Given the description of an element on the screen output the (x, y) to click on. 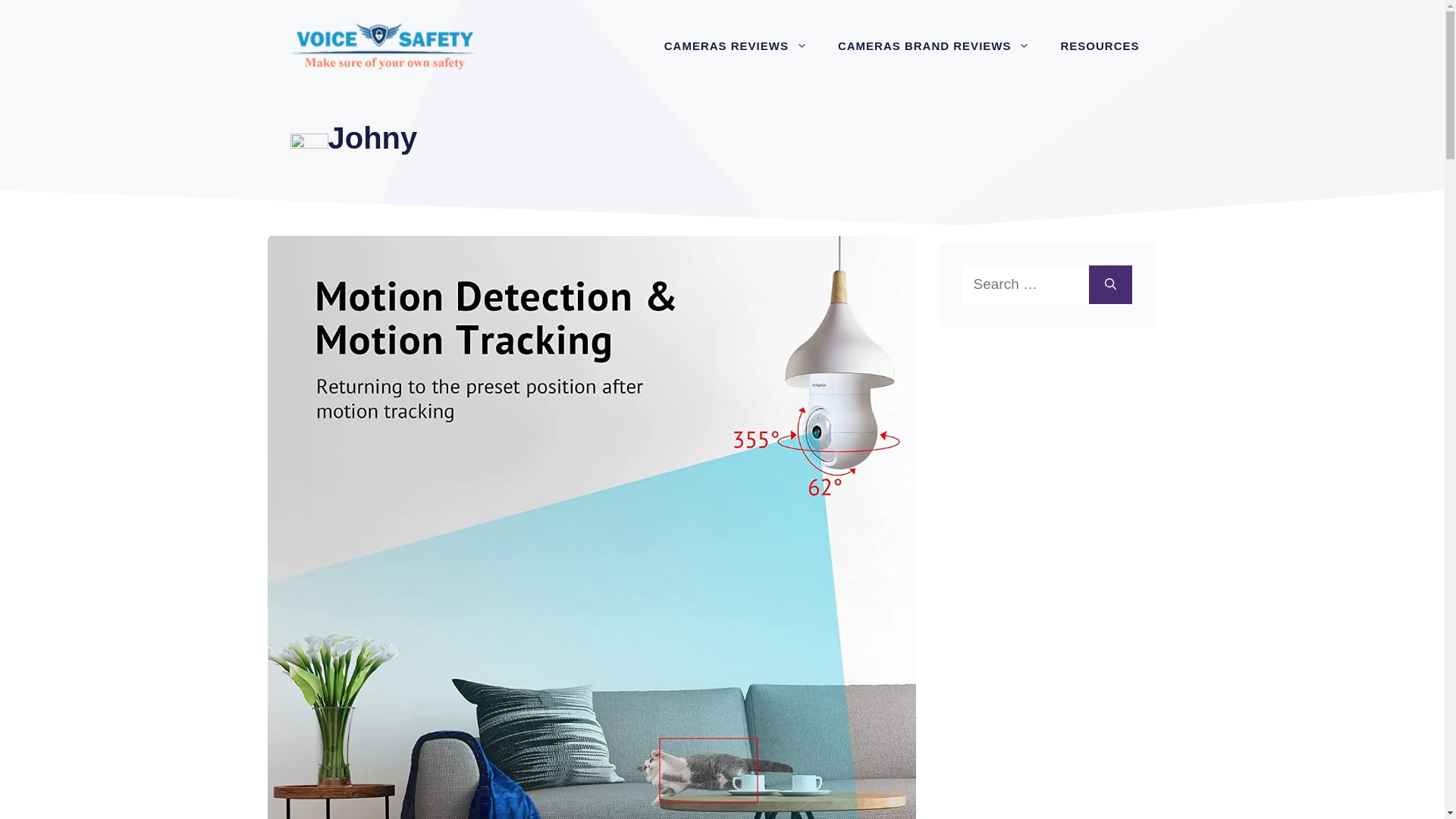
Search for: (1024, 284)
RESOURCES (1099, 45)
CAMERAS BRAND REVIEWS (933, 45)
CAMERAS REVIEWS (735, 45)
